Given the description of an element on the screen output the (x, y) to click on. 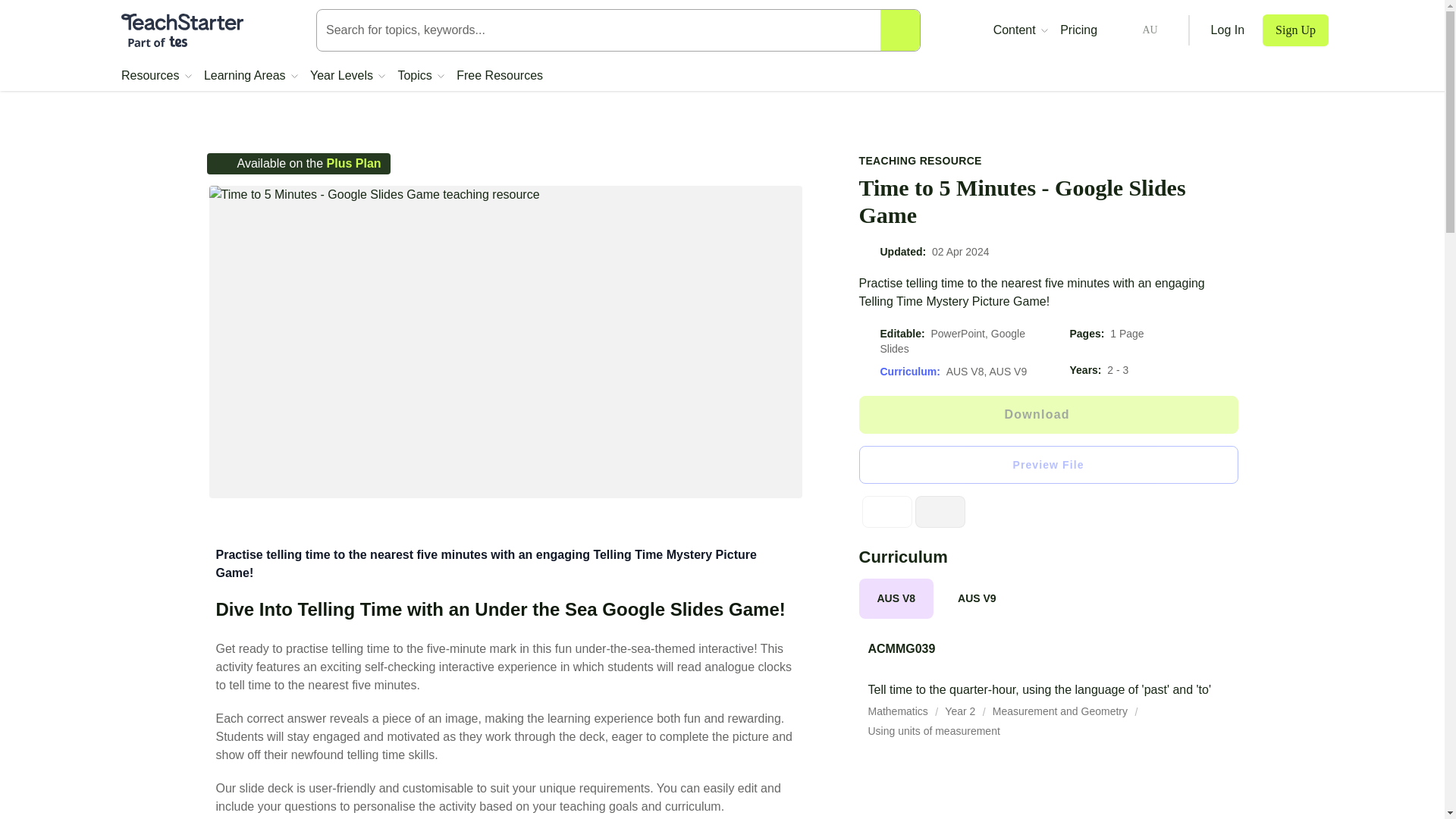
Pricing (1078, 30)
Content  (1020, 30)
Sign Up (1294, 29)
Year Levels  (347, 75)
AU (1138, 30)
Blog, podcast, and webinars (1020, 30)
Resources (156, 75)
Log in to your account (1227, 30)
Learning Areas  (250, 75)
Resources  (156, 75)
